Given the description of an element on the screen output the (x, y) to click on. 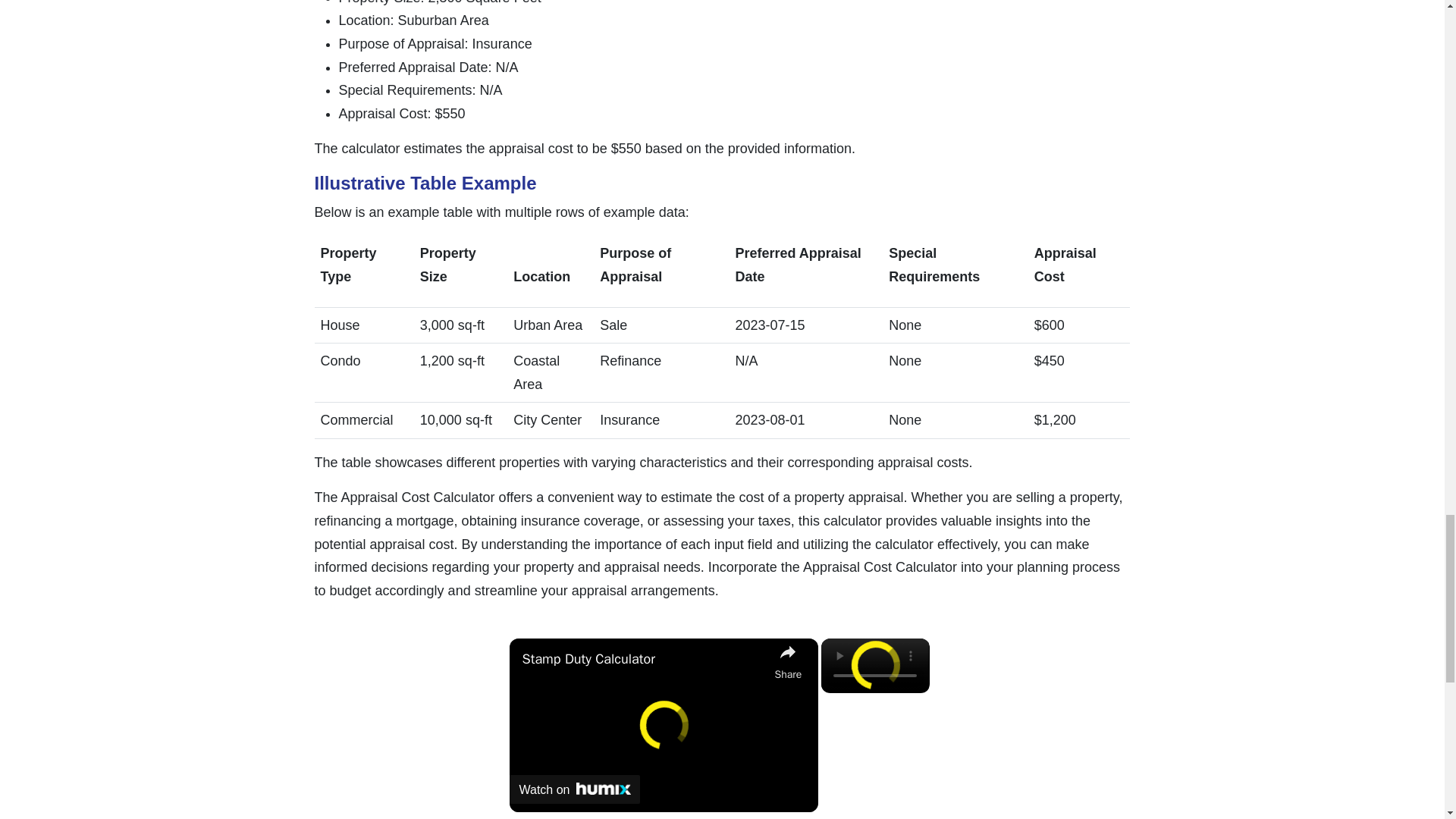
Watch on (574, 788)
Stamp Duty Calculator (644, 658)
